Given the description of an element on the screen output the (x, y) to click on. 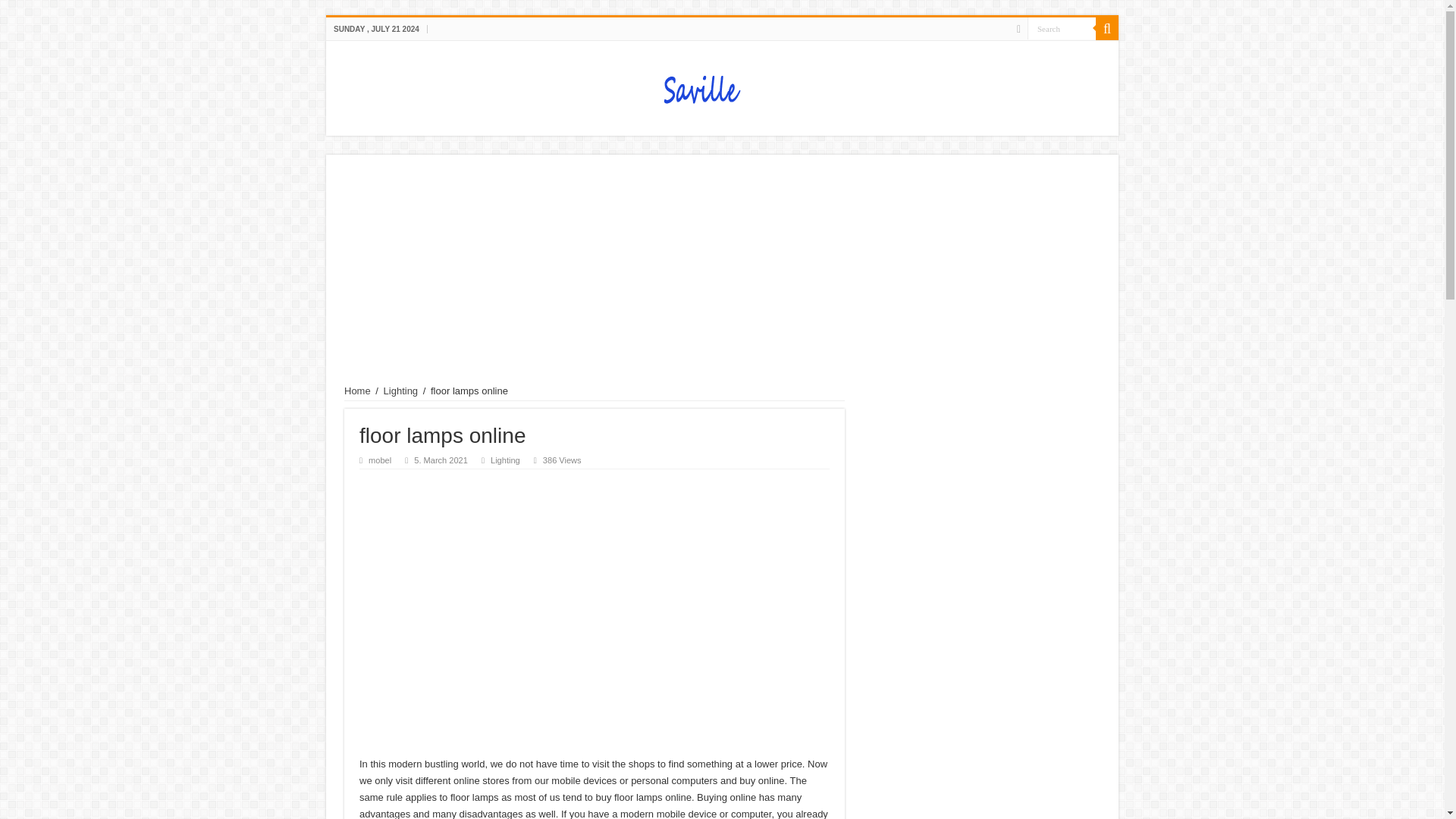
Lighting (504, 460)
Search (1061, 28)
Search (1107, 28)
Lighting (401, 390)
Advertisement (594, 599)
savillefurniture (722, 85)
mobel (379, 460)
Search (1061, 28)
Home (357, 390)
Search (1061, 28)
